Given the description of an element on the screen output the (x, y) to click on. 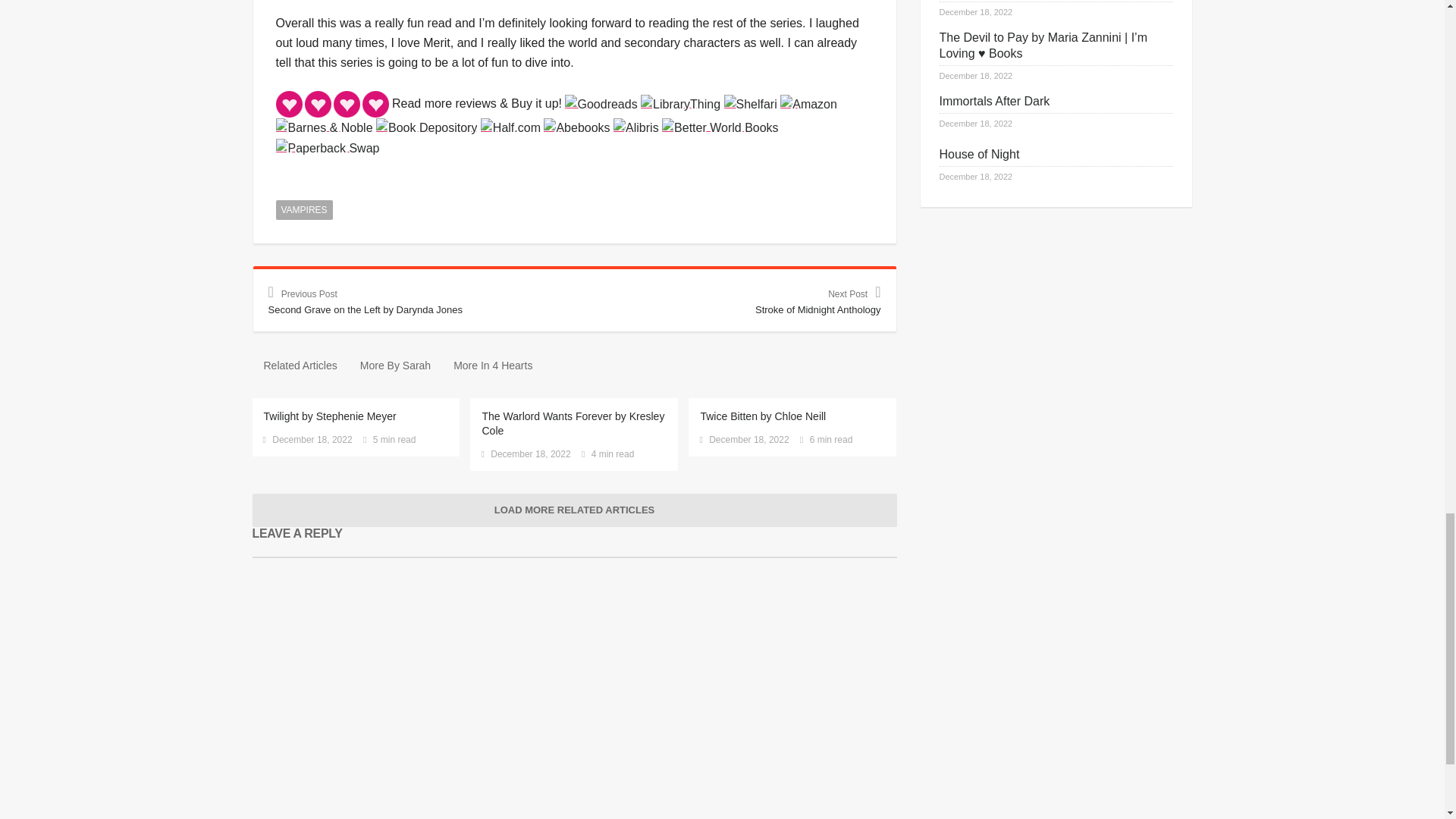
Goodreads (600, 103)
4 Hearts (332, 103)
Goodreads (600, 103)
Shelfari (749, 103)
LibraryThing (680, 103)
Amazon (808, 103)
LibraryThing (680, 103)
Shelfari (749, 103)
